Given the description of an element on the screen output the (x, y) to click on. 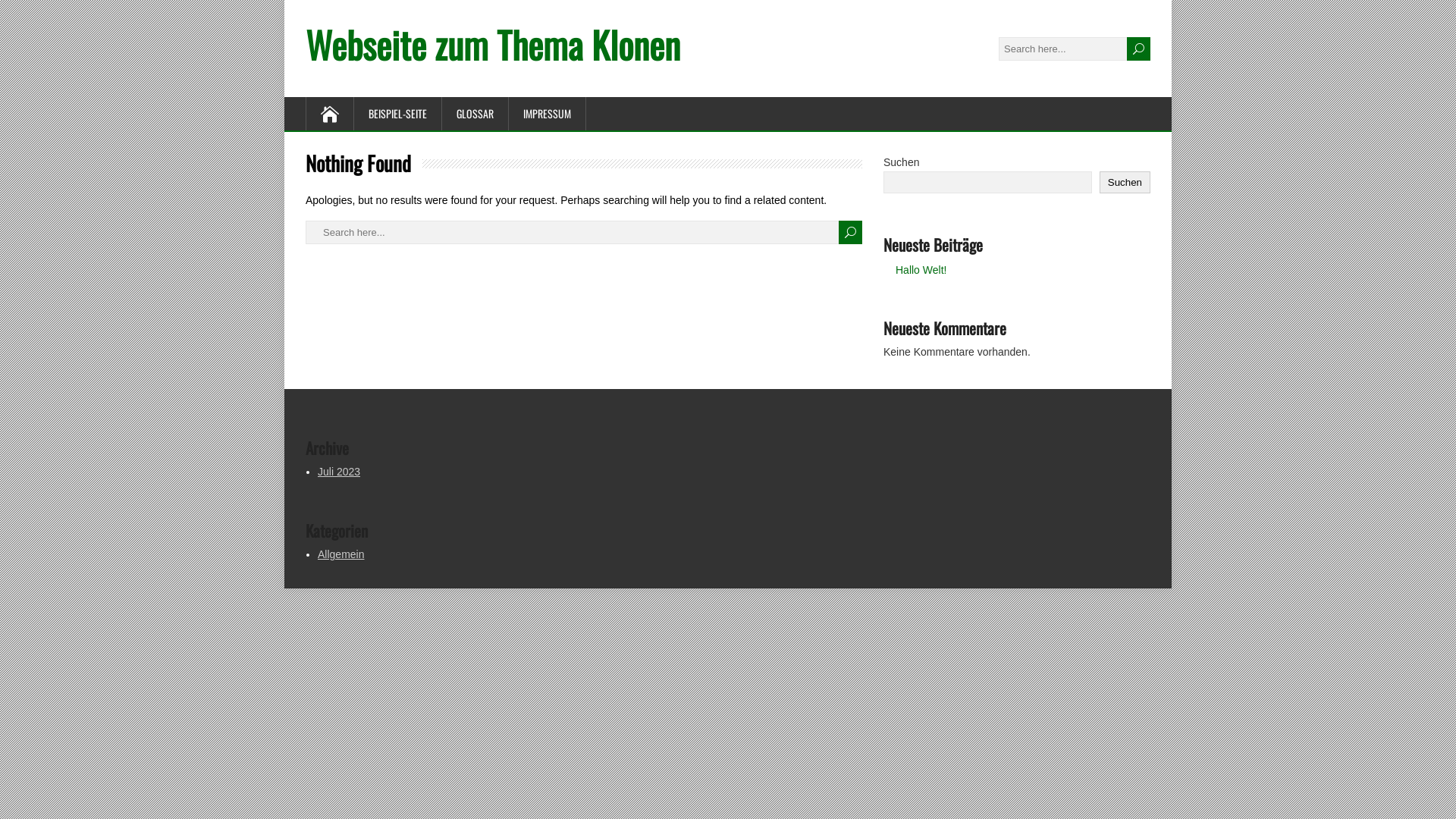
Suchen Element type: text (1124, 182)
GLOSSAR Element type: text (475, 113)
Juli 2023 Element type: text (338, 471)
Webseite zum Thema Klonen Element type: text (492, 44)
IMPRESSUM Element type: text (547, 113)
U Element type: text (1138, 48)
Allgemein Element type: text (340, 554)
Hallo Welt! Element type: text (920, 269)
BEISPIEL-SEITE Element type: text (398, 113)
U Element type: text (850, 232)
